Given the description of an element on the screen output the (x, y) to click on. 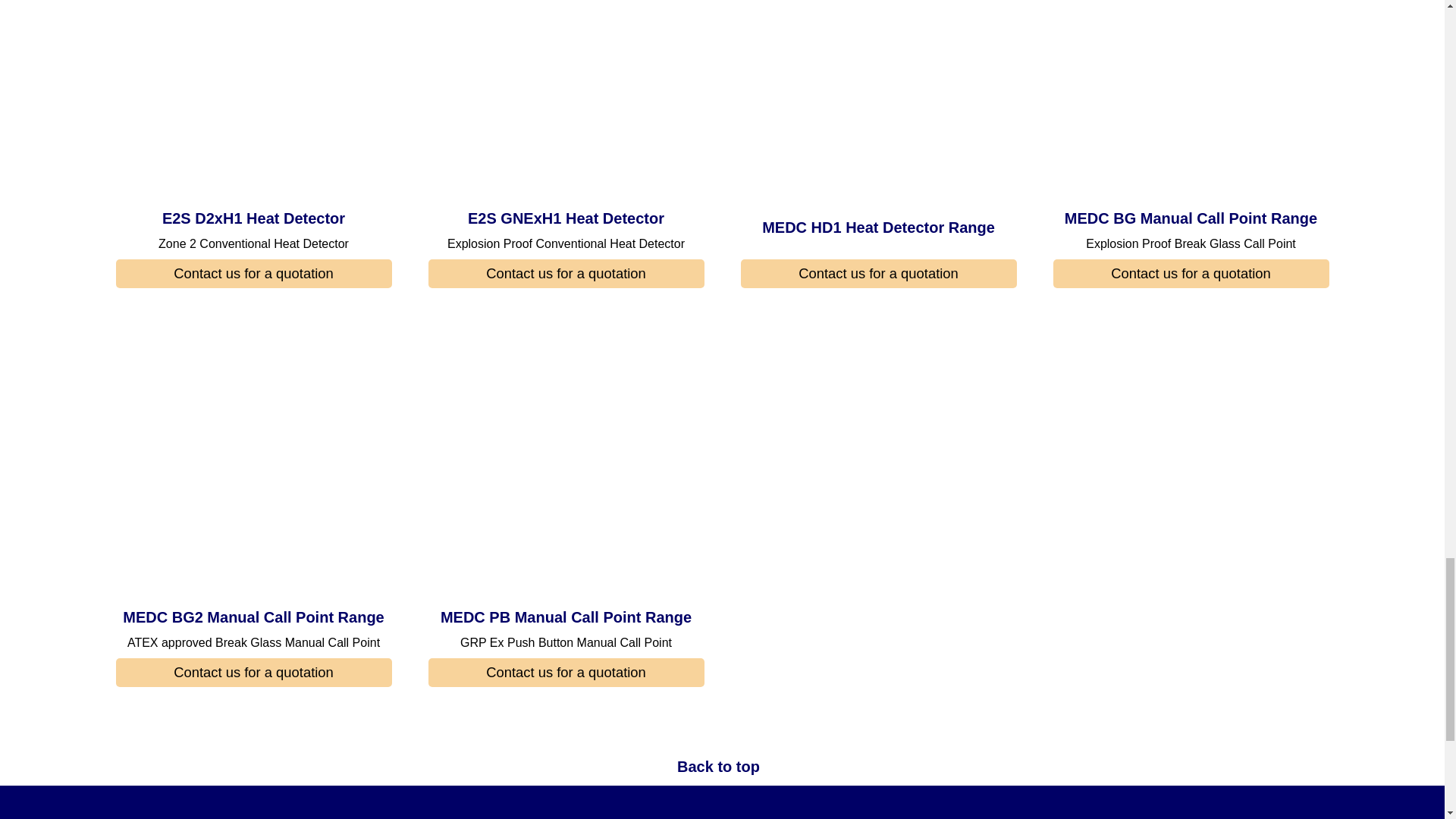
MEDC BG2 Manual Call Point Range (252, 462)
E2S GNExH1 Heat Detector (565, 99)
MEDC HD1 Heat Detector Range (877, 99)
E2S D2xH1 Heat Detector (252, 99)
MEDC BG Manual Call Point Range (1189, 99)
